Given the description of an element on the screen output the (x, y) to click on. 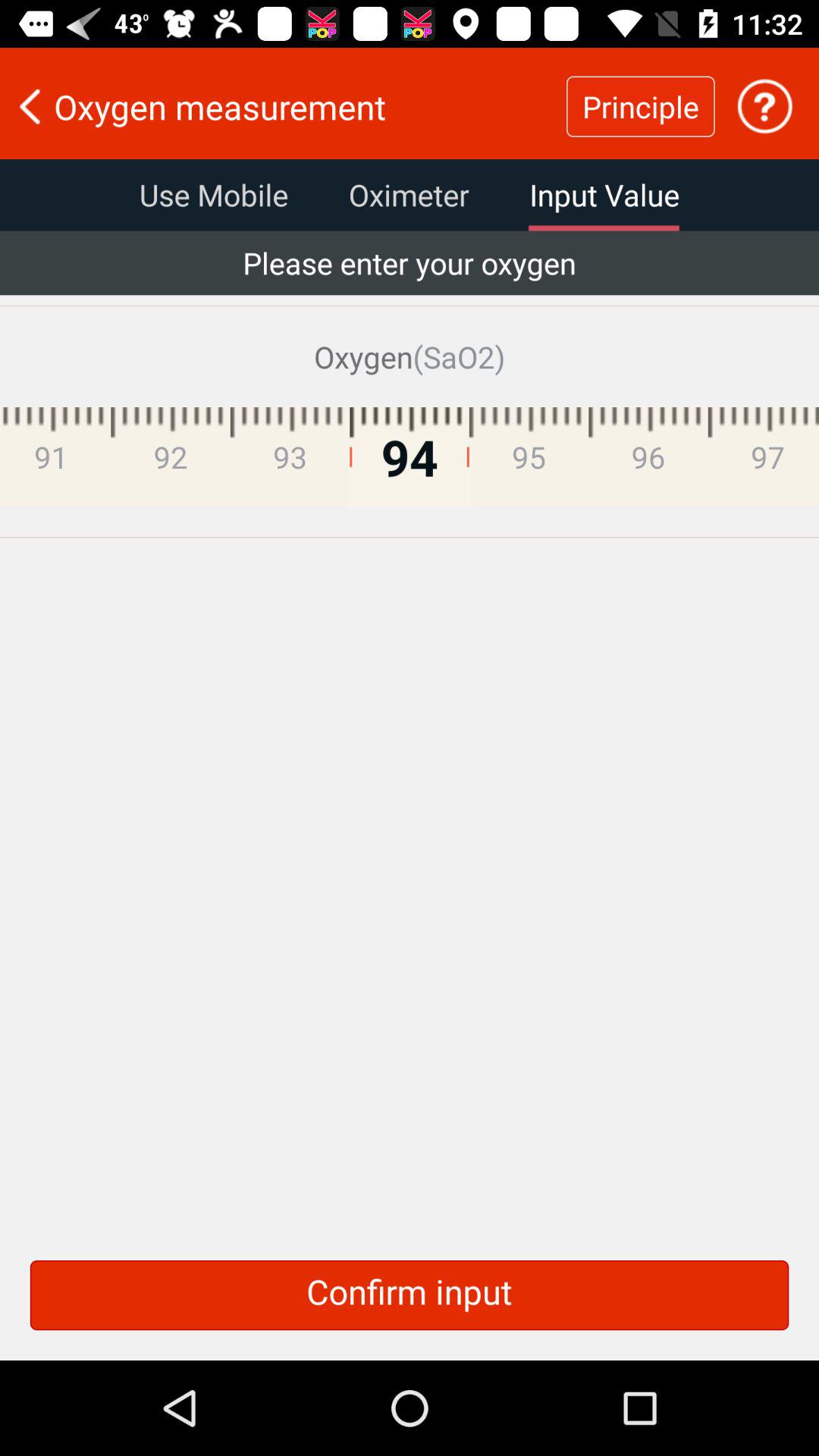
turn off item next to oximeter (604, 194)
